Given the description of an element on the screen output the (x, y) to click on. 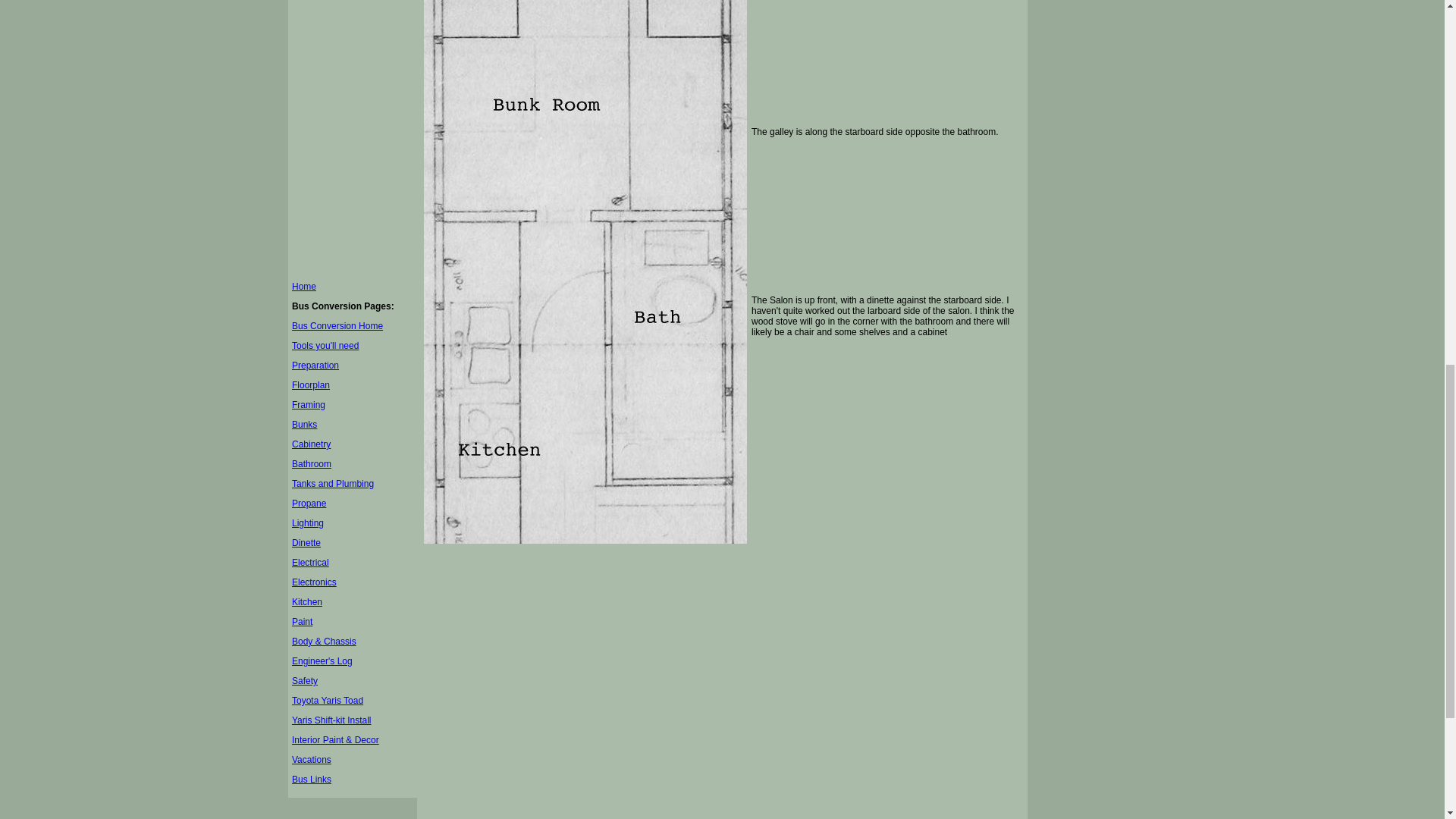
Kitchen (306, 602)
Electronics (314, 582)
Bus Links (311, 778)
Paint (302, 621)
Yaris Shift-kit Install (331, 719)
Lighting (307, 522)
Home (303, 286)
Tanks and Plumbing (333, 483)
Preparation (315, 365)
Bus Conversion Home (337, 326)
Bunks (304, 424)
Framing (308, 404)
Floorplan (311, 385)
Advertisement (352, 135)
Safety (304, 680)
